Given the description of an element on the screen output the (x, y) to click on. 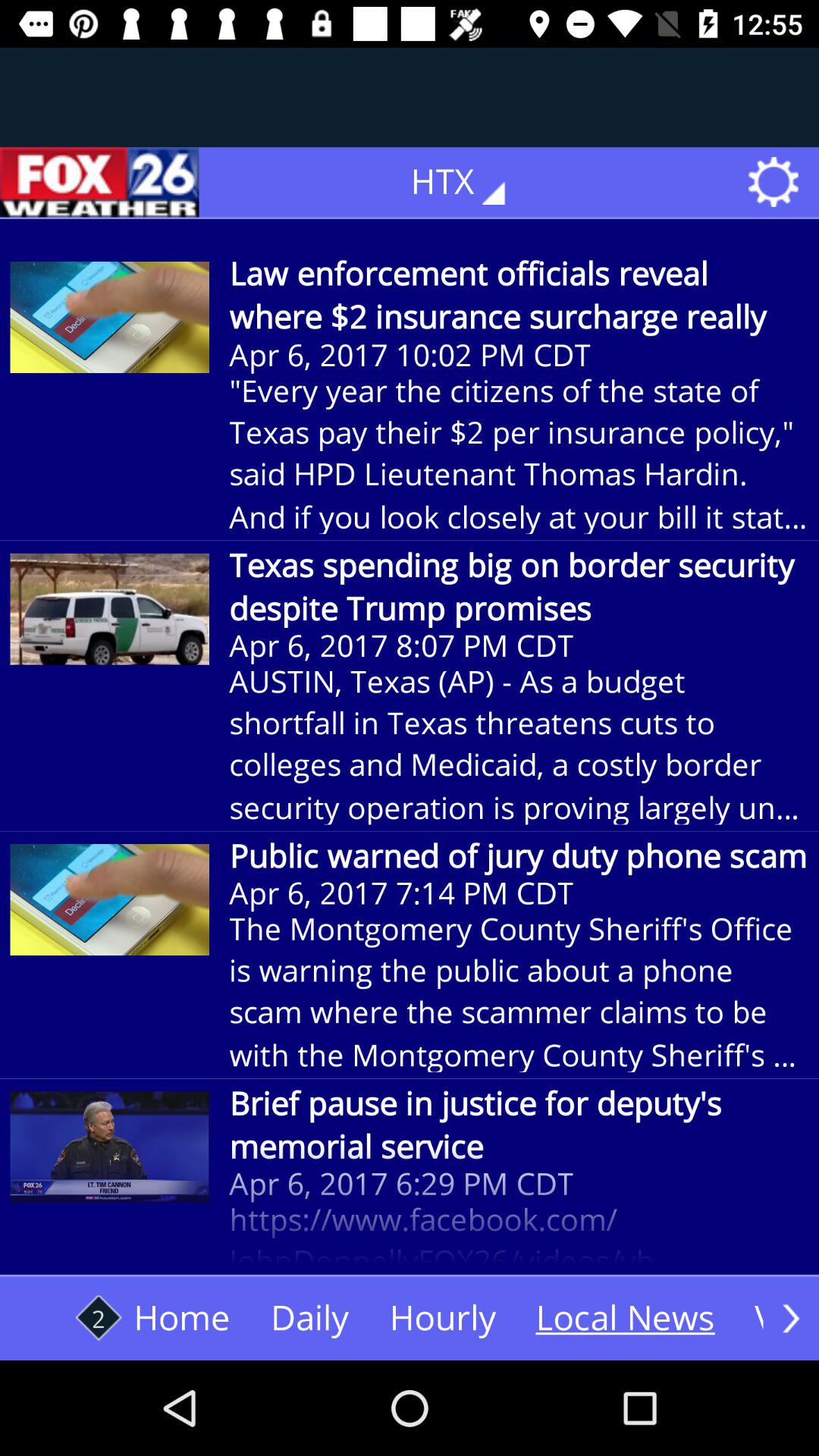
press htx item (468, 182)
